Given the description of an element on the screen output the (x, y) to click on. 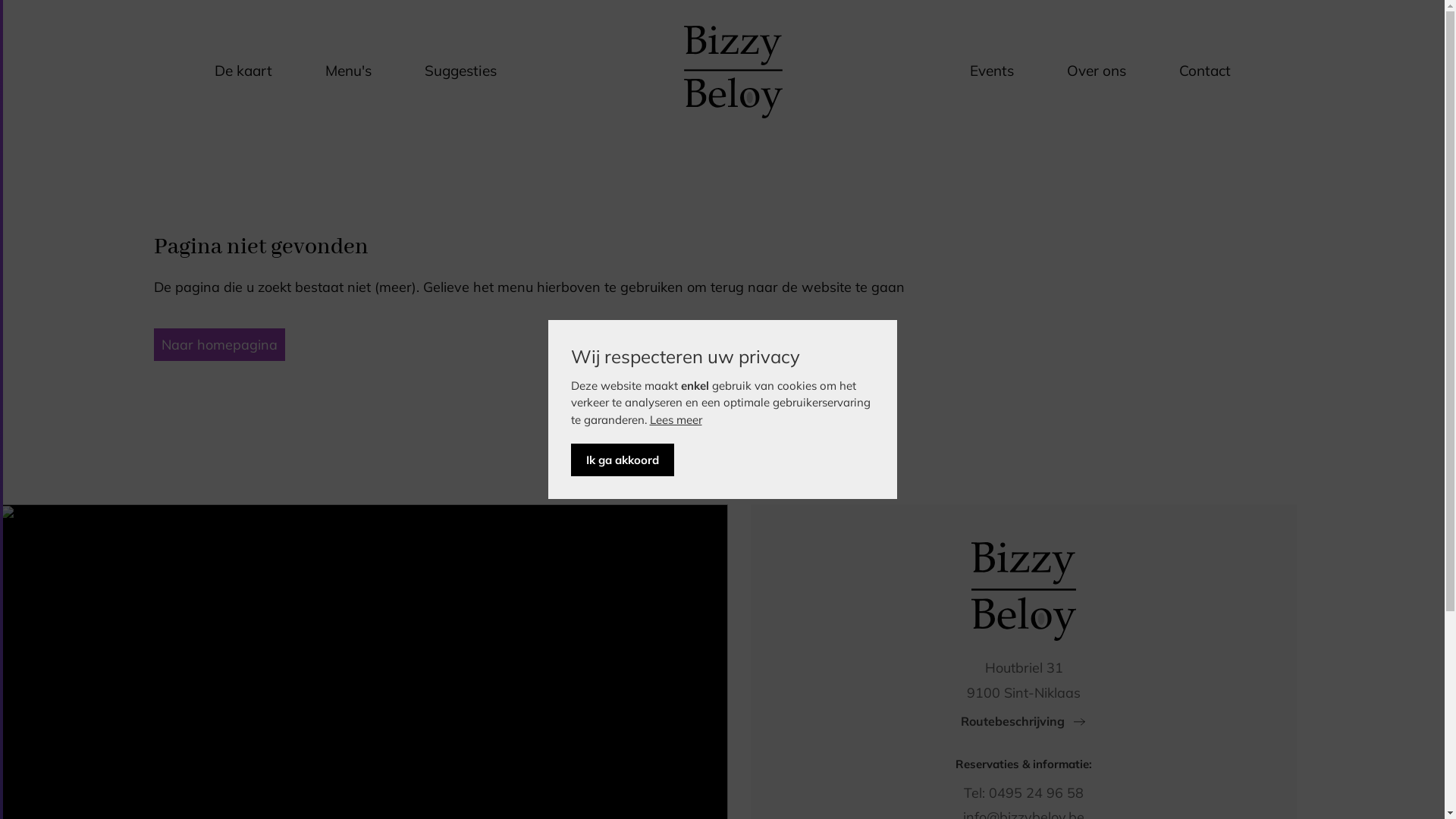
Menu's Element type: text (347, 71)
Naar homepagina Element type: text (218, 344)
Lees meer Element type: text (675, 419)
Houtbriel 31
9100 Sint-Niklaas Element type: text (1023, 679)
Tel: 0495 24 96 58 Element type: text (1023, 792)
Over ons Element type: text (1095, 71)
Routebeschrijving Element type: text (1023, 721)
De kaart Element type: text (242, 71)
Events Element type: text (991, 71)
Contact Element type: text (1204, 71)
Ik ga akkoord Element type: text (621, 459)
Suggesties Element type: text (460, 71)
